Given the description of an element on the screen output the (x, y) to click on. 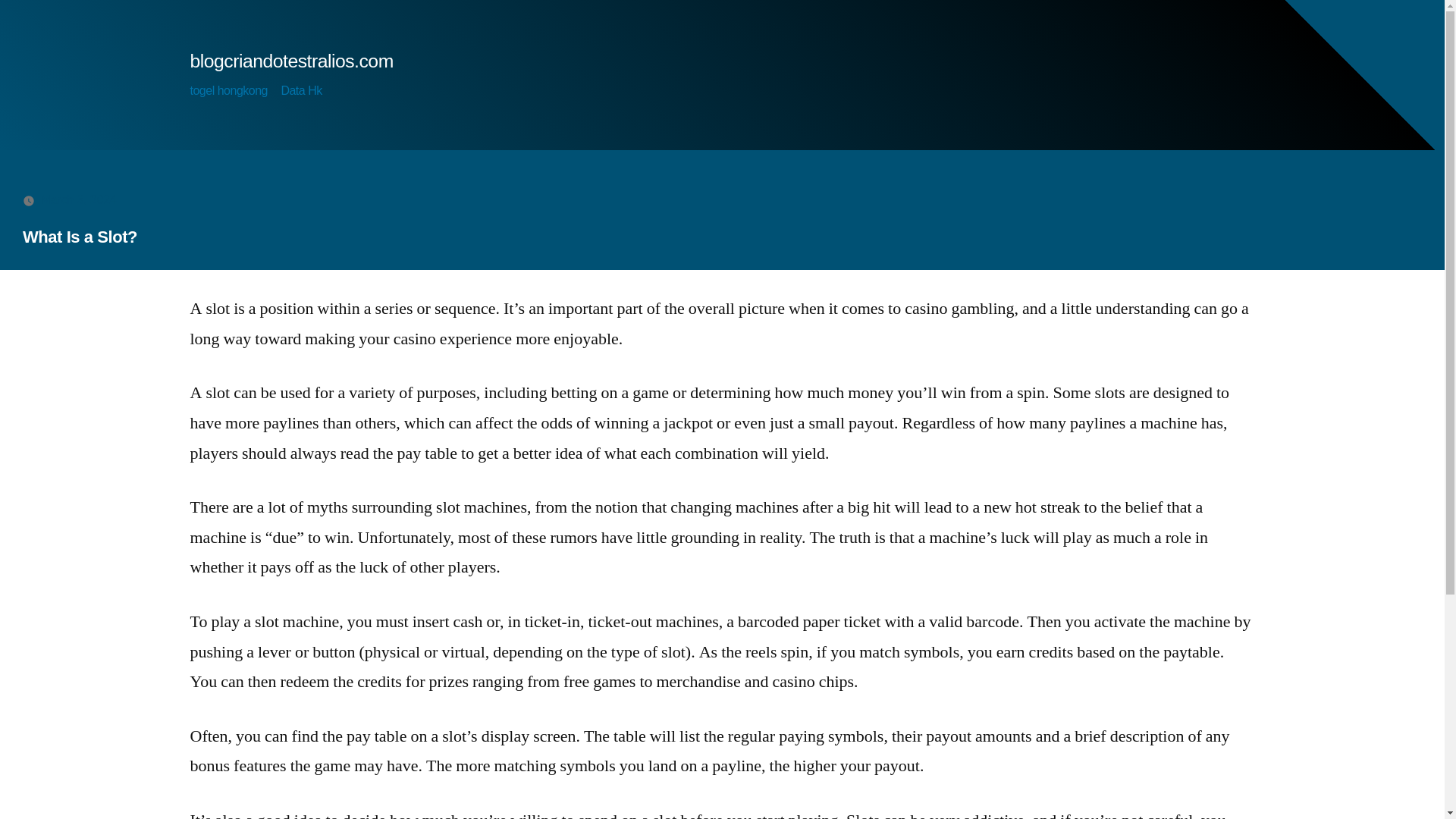
March 3, 2024 (78, 199)
Data Hk (301, 90)
blogcriandotestralios.com (291, 60)
togel hongkong (228, 90)
